Given the description of an element on the screen output the (x, y) to click on. 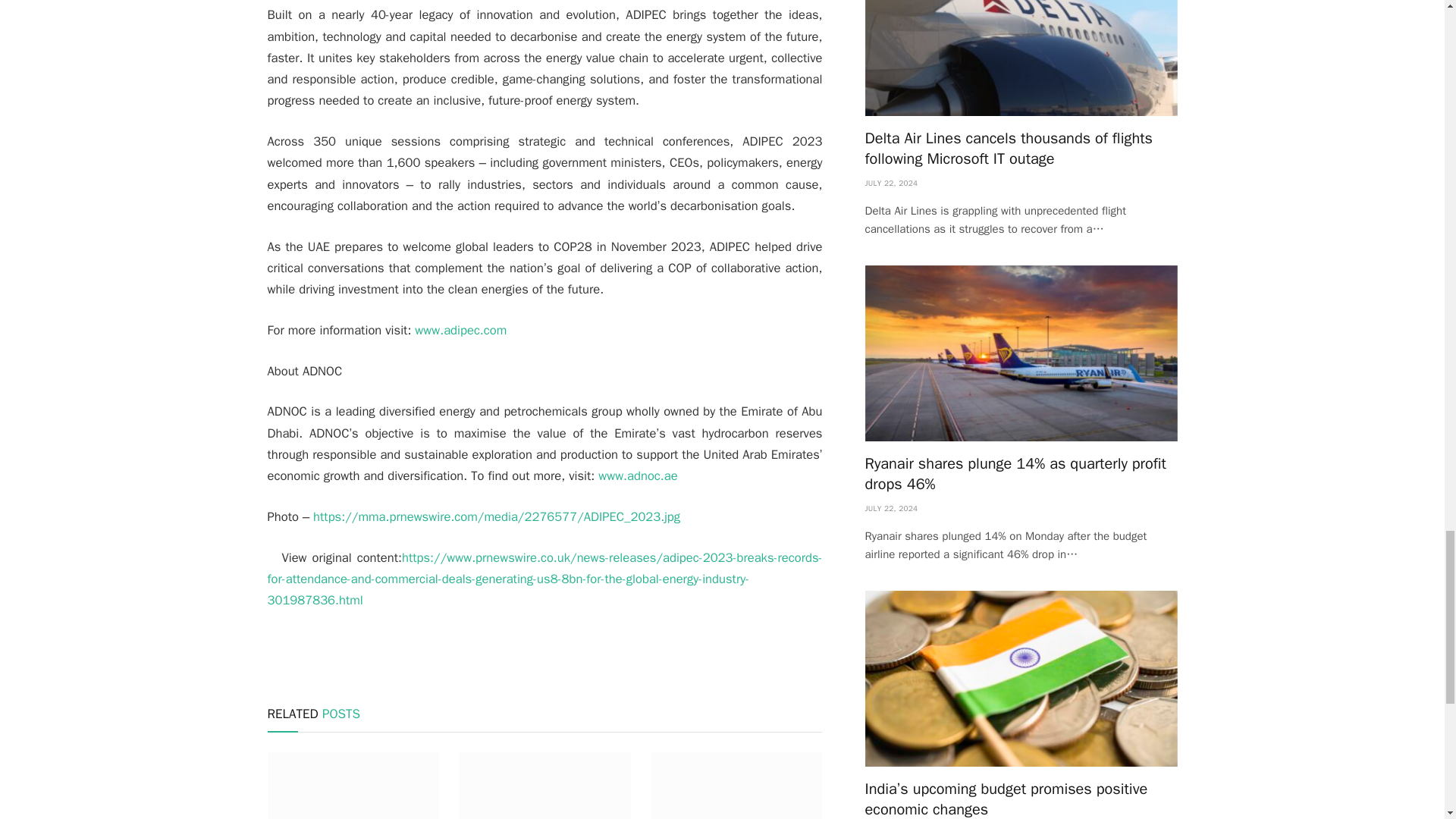
www.adipec.com (460, 330)
www.adnoc.ae (637, 475)
